Given the description of an element on the screen output the (x, y) to click on. 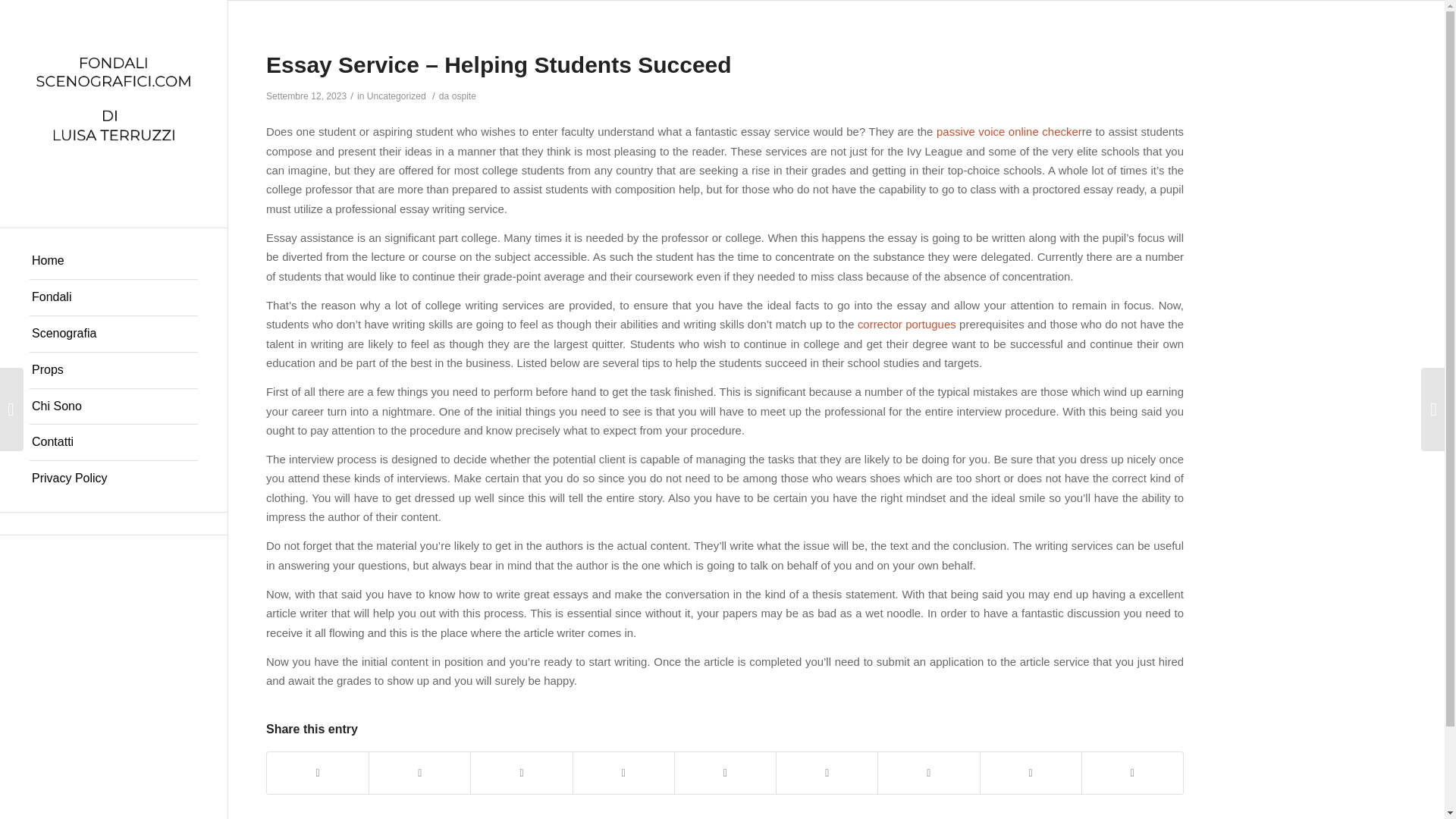
ospite (463, 95)
Home (113, 261)
corrector portugues (906, 323)
passive voice online checker (1008, 131)
Scenografia (113, 334)
Fondali (113, 298)
Props (113, 370)
Contatti (113, 443)
Uncategorized (396, 95)
Chi Sono (113, 407)
